Given the description of an element on the screen output the (x, y) to click on. 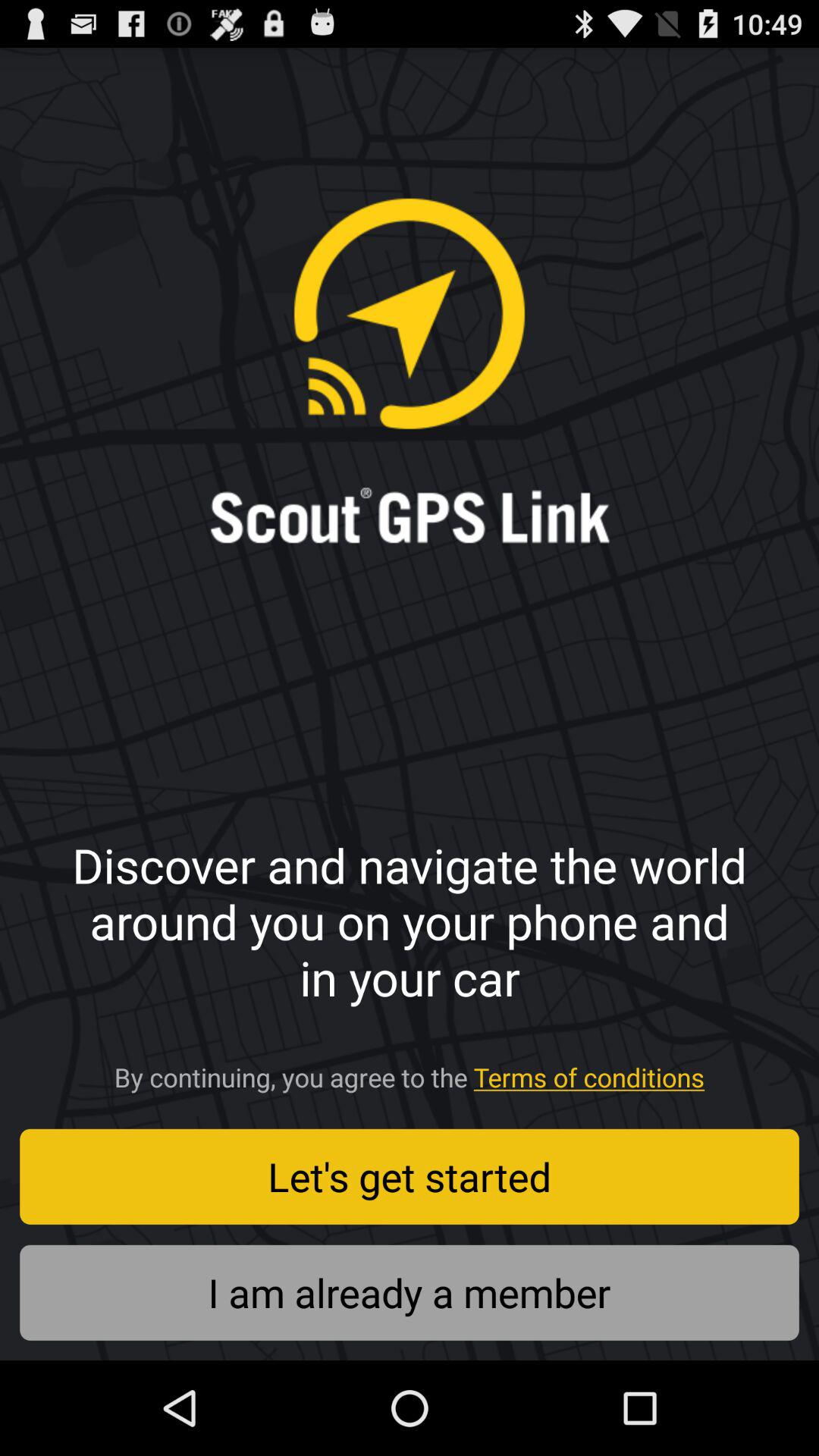
turn off item above the let s get (409, 1072)
